Given the description of an element on the screen output the (x, y) to click on. 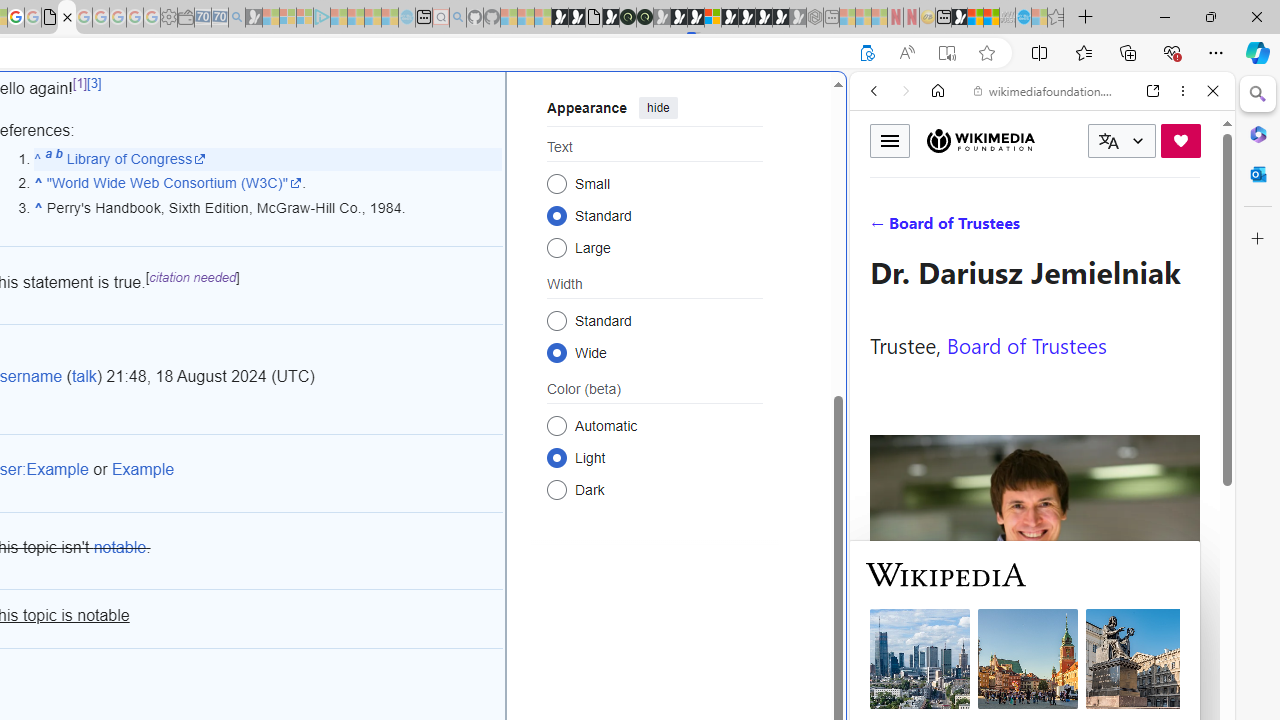
Close split screen (844, 102)
Donate now (1180, 140)
Wikimedia Foundation (980, 140)
